Given the description of an element on the screen output the (x, y) to click on. 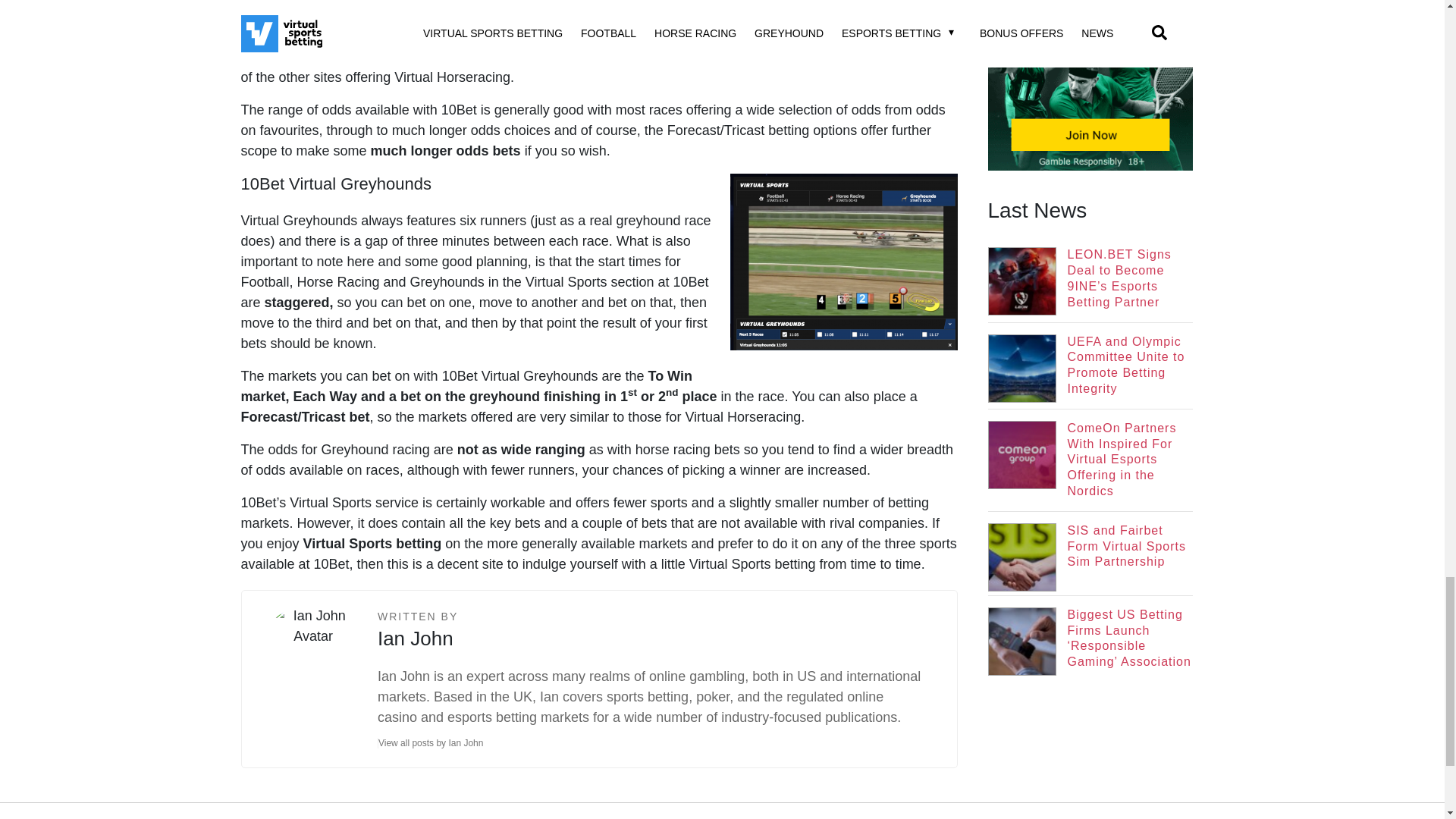
View all posts by Ian John (436, 742)
